Given the description of an element on the screen output the (x, y) to click on. 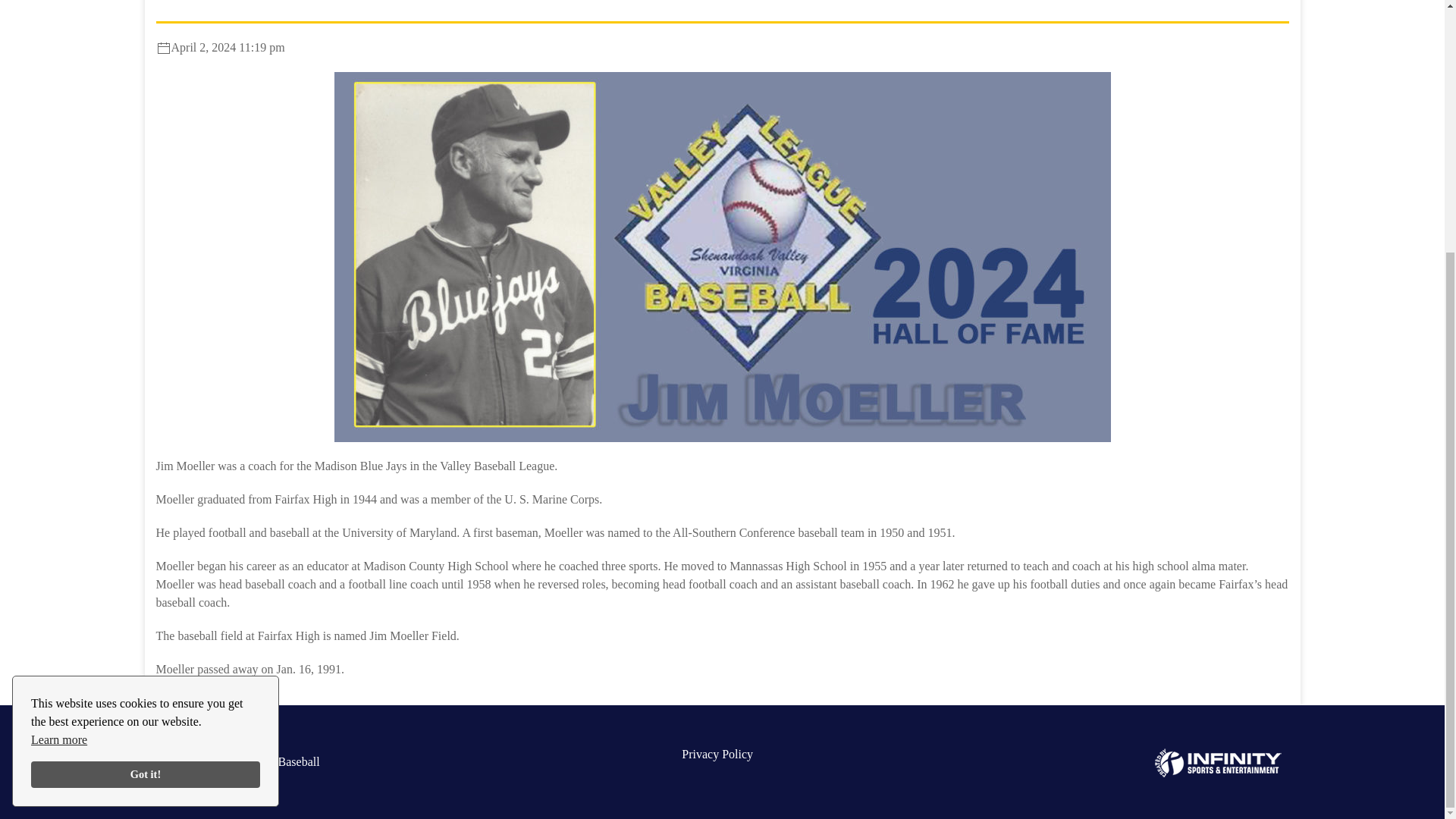
Got it! (145, 419)
Learn more (58, 384)
